Given the description of an element on the screen output the (x, y) to click on. 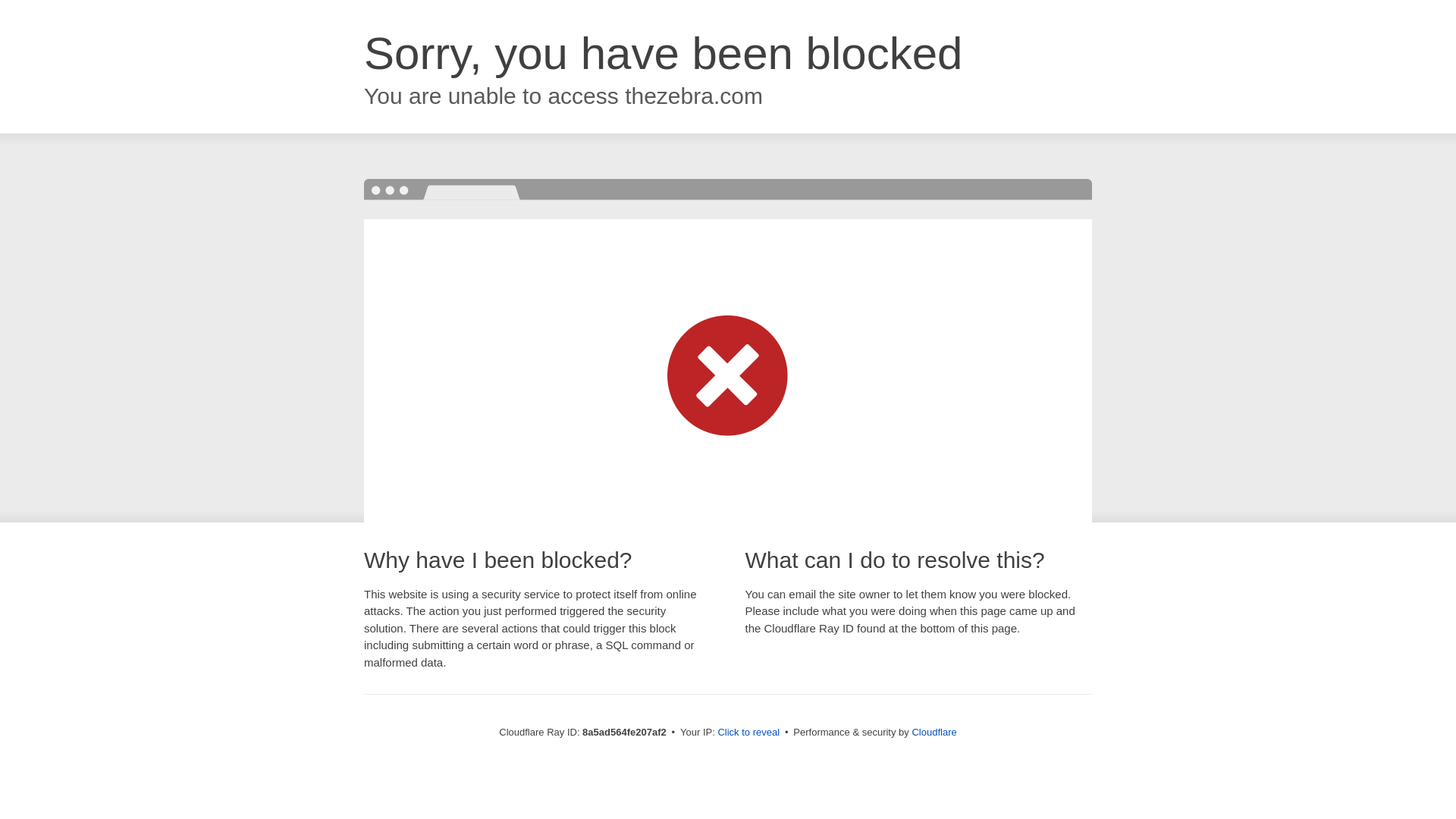
Cloudflare (933, 731)
Click to reveal (747, 732)
